Given the description of an element on the screen output the (x, y) to click on. 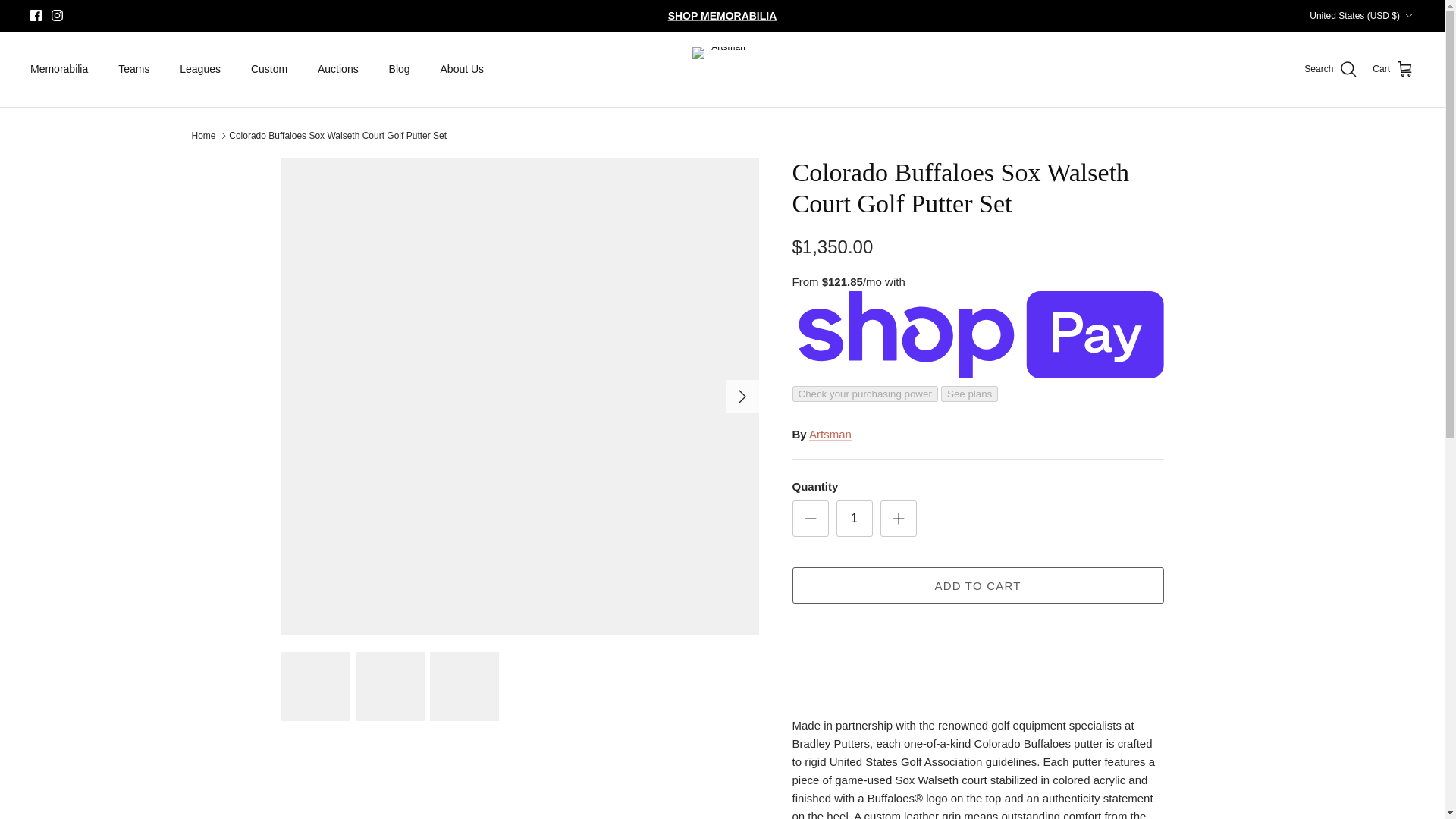
SHOP MEMORABILIA (722, 15)
All products (722, 15)
Facebook (36, 15)
Instagram (56, 15)
Plus (897, 518)
Instagram (56, 15)
Down (1408, 15)
RIGHT (741, 396)
Artsman (721, 68)
1 (853, 518)
